Given the description of an element on the screen output the (x, y) to click on. 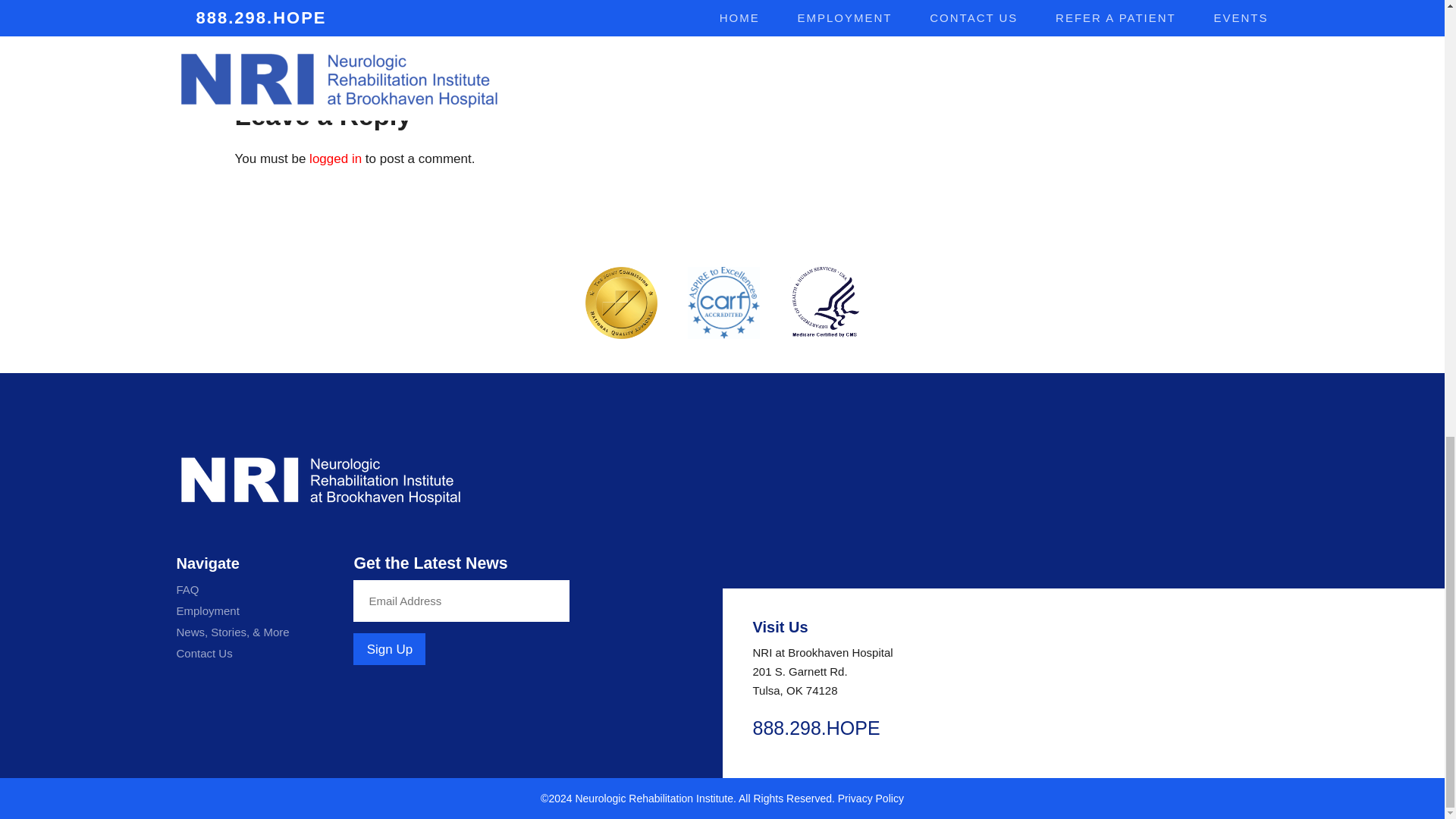
Sign Up (389, 649)
